Given the description of an element on the screen output the (x, y) to click on. 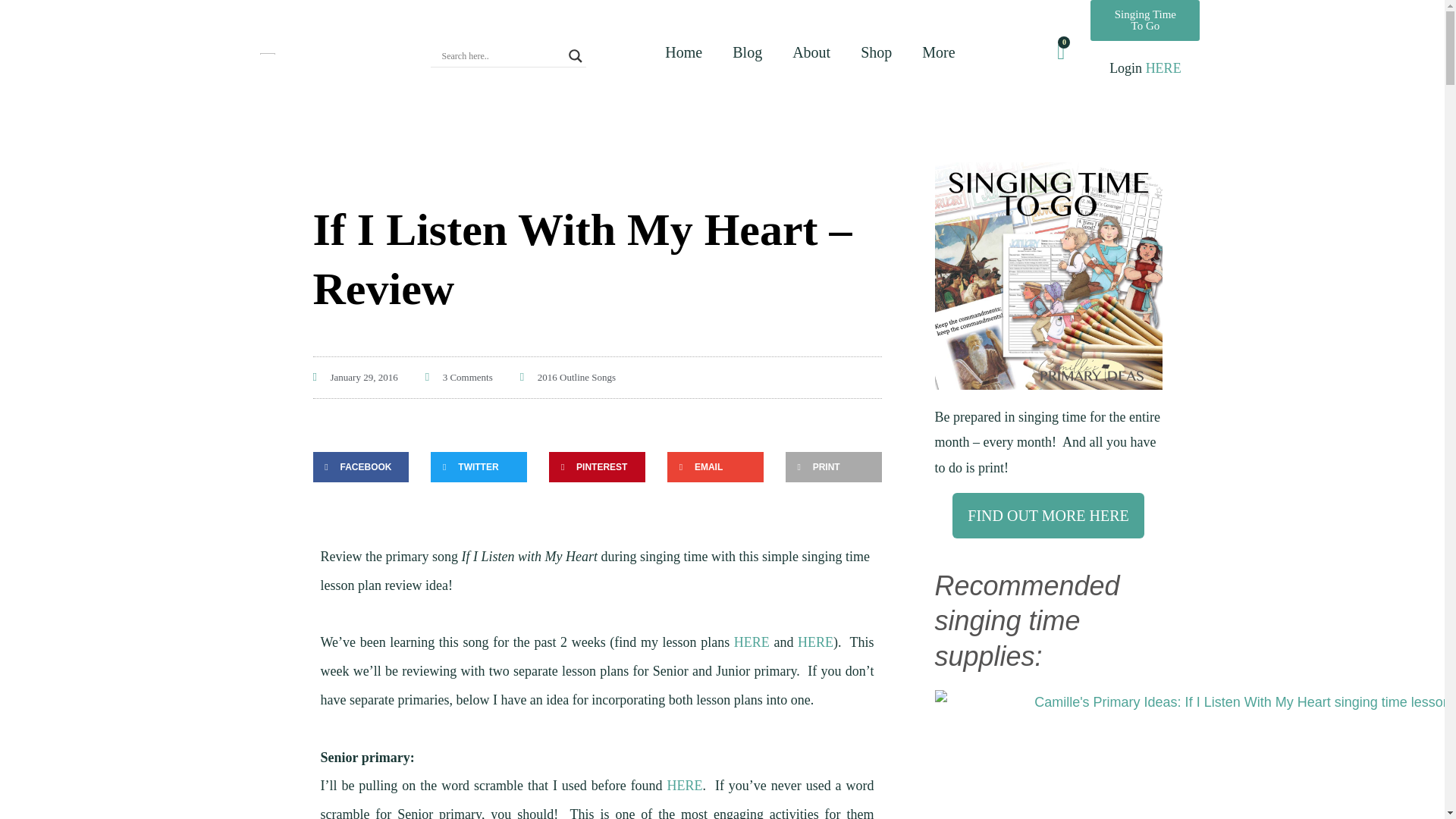
Shop (876, 52)
Blog (747, 52)
More (938, 52)
Home (683, 52)
About (811, 52)
